Given the description of an element on the screen output the (x, y) to click on. 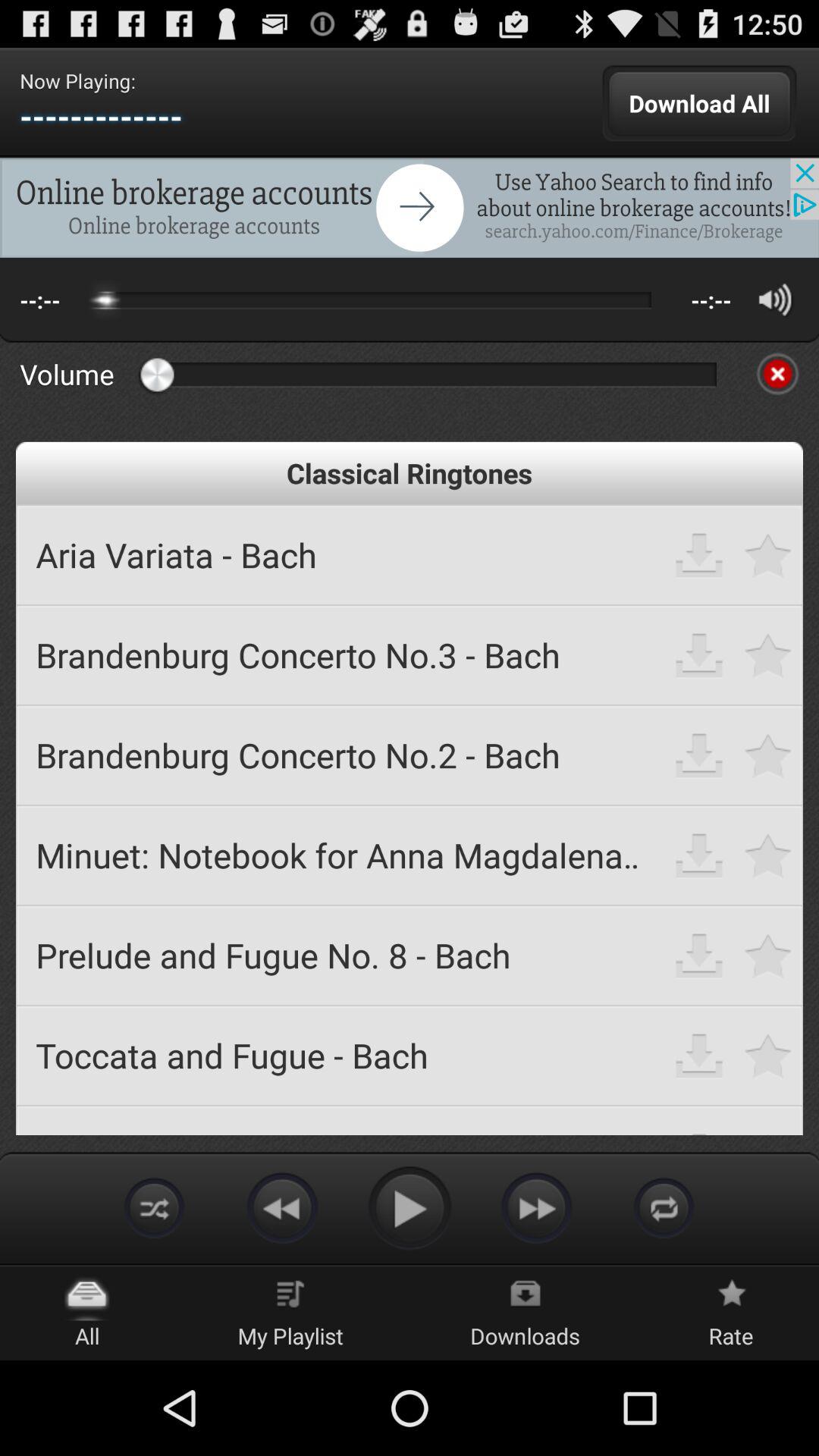
add to favorites list (768, 554)
